Given the description of an element on the screen output the (x, y) to click on. 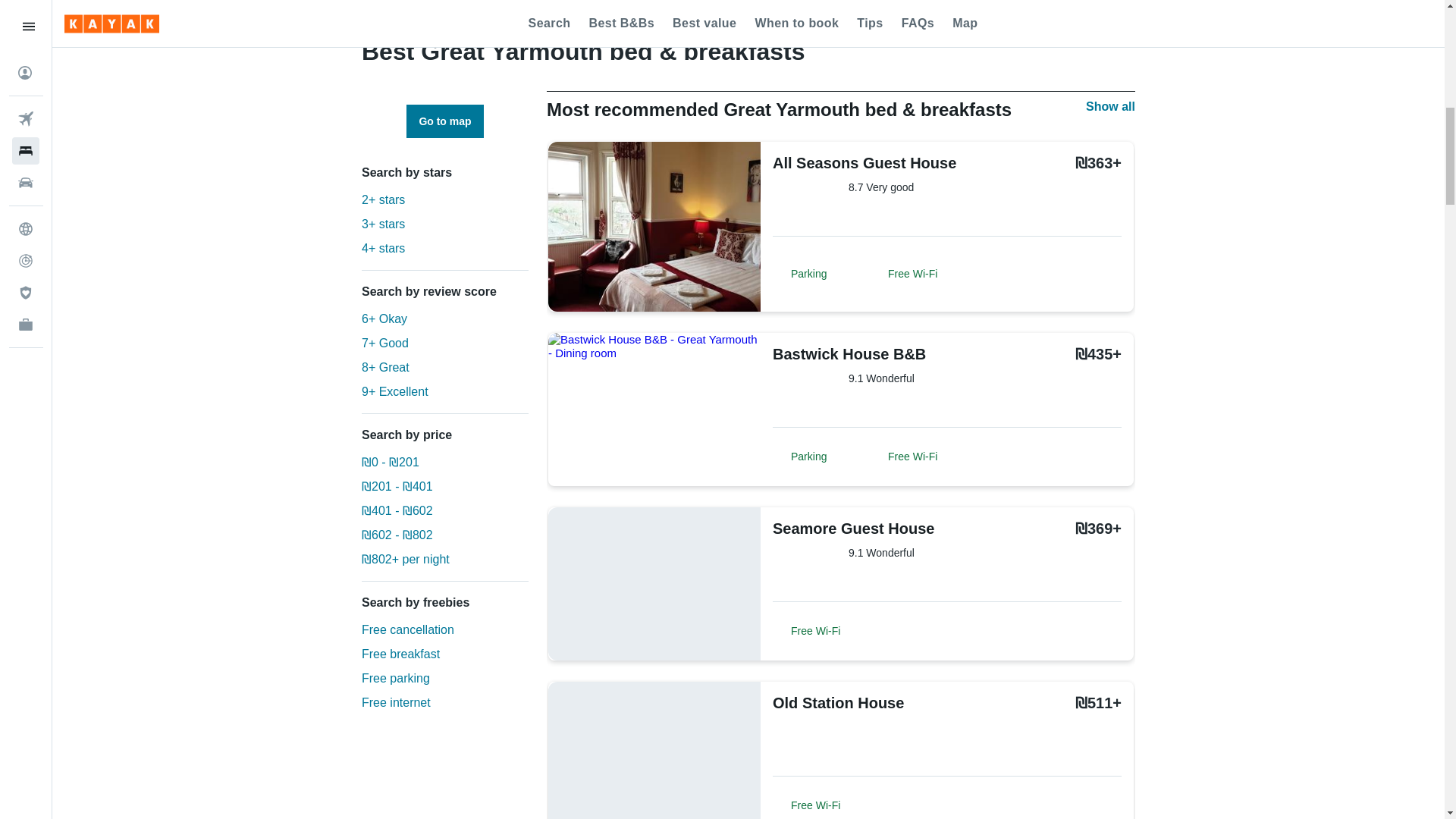
All Seasons Guest House (864, 162)
Old Station House (860, 702)
Seamore Guest House (860, 528)
Show all (1110, 106)
